Given the description of an element on the screen output the (x, y) to click on. 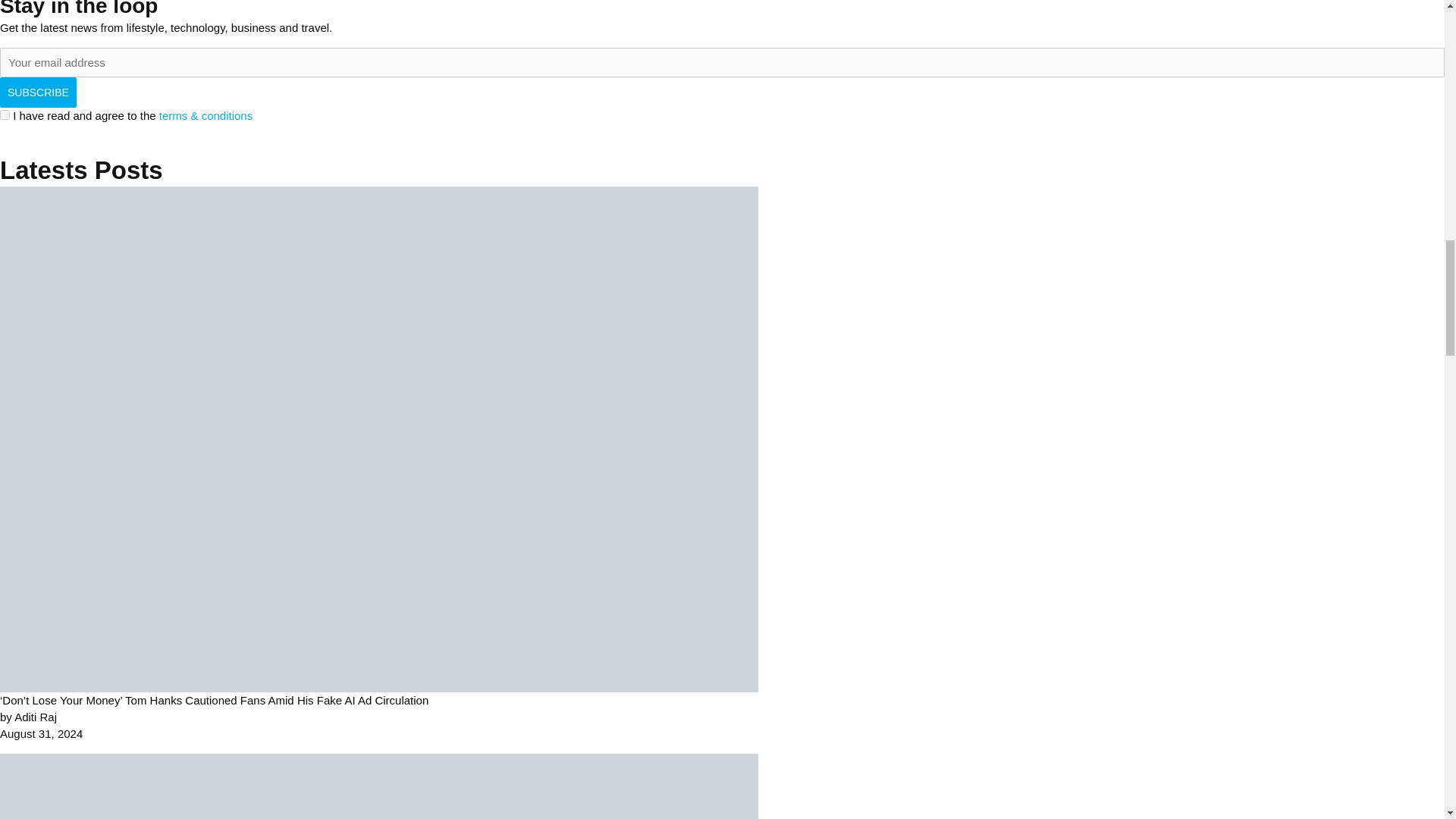
Subscribe (38, 91)
Subscribe (38, 91)
1 (5, 114)
